Given the description of an element on the screen output the (x, y) to click on. 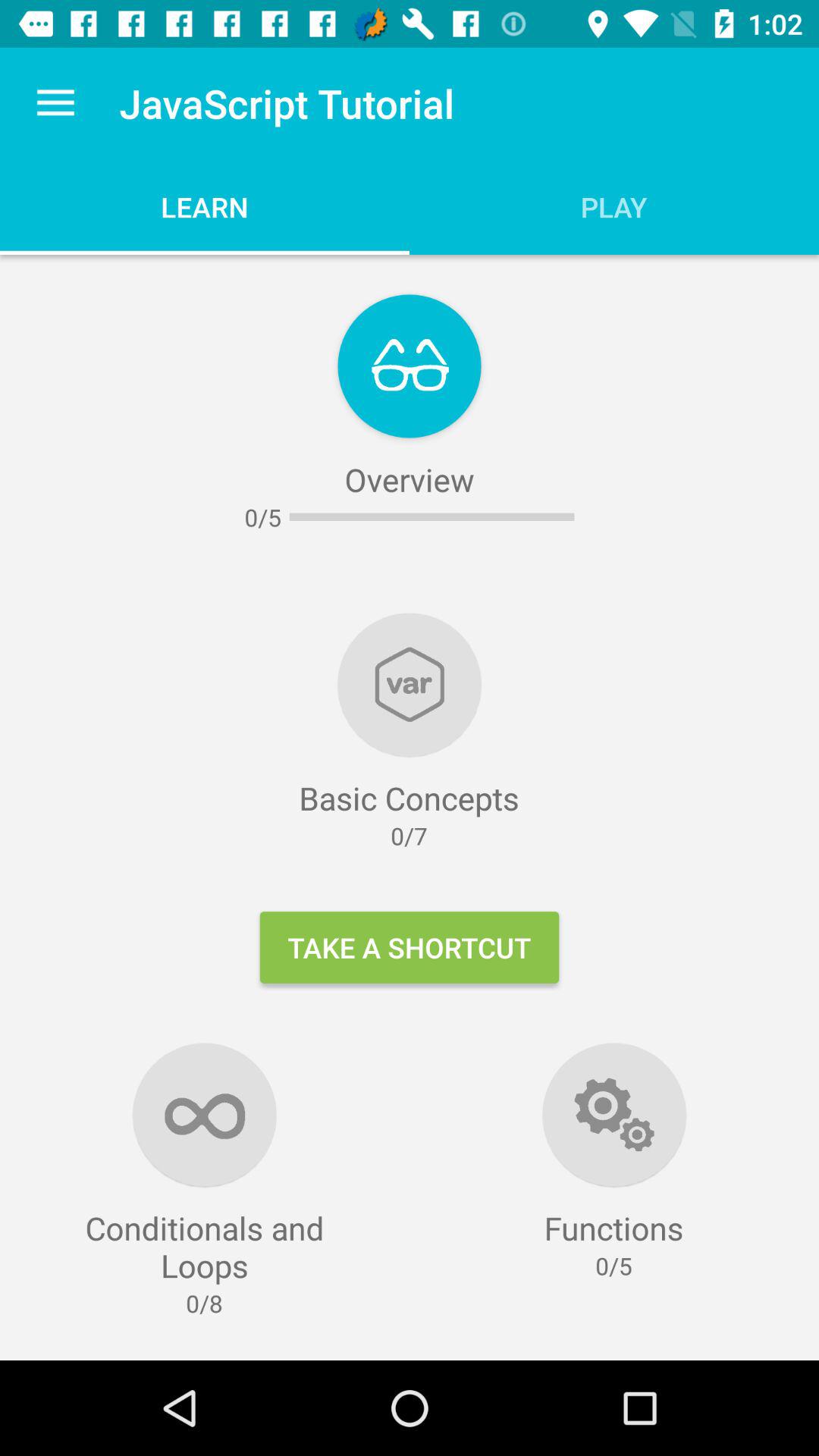
choose icon below the 0/7 icon (409, 947)
